Given the description of an element on the screen output the (x, y) to click on. 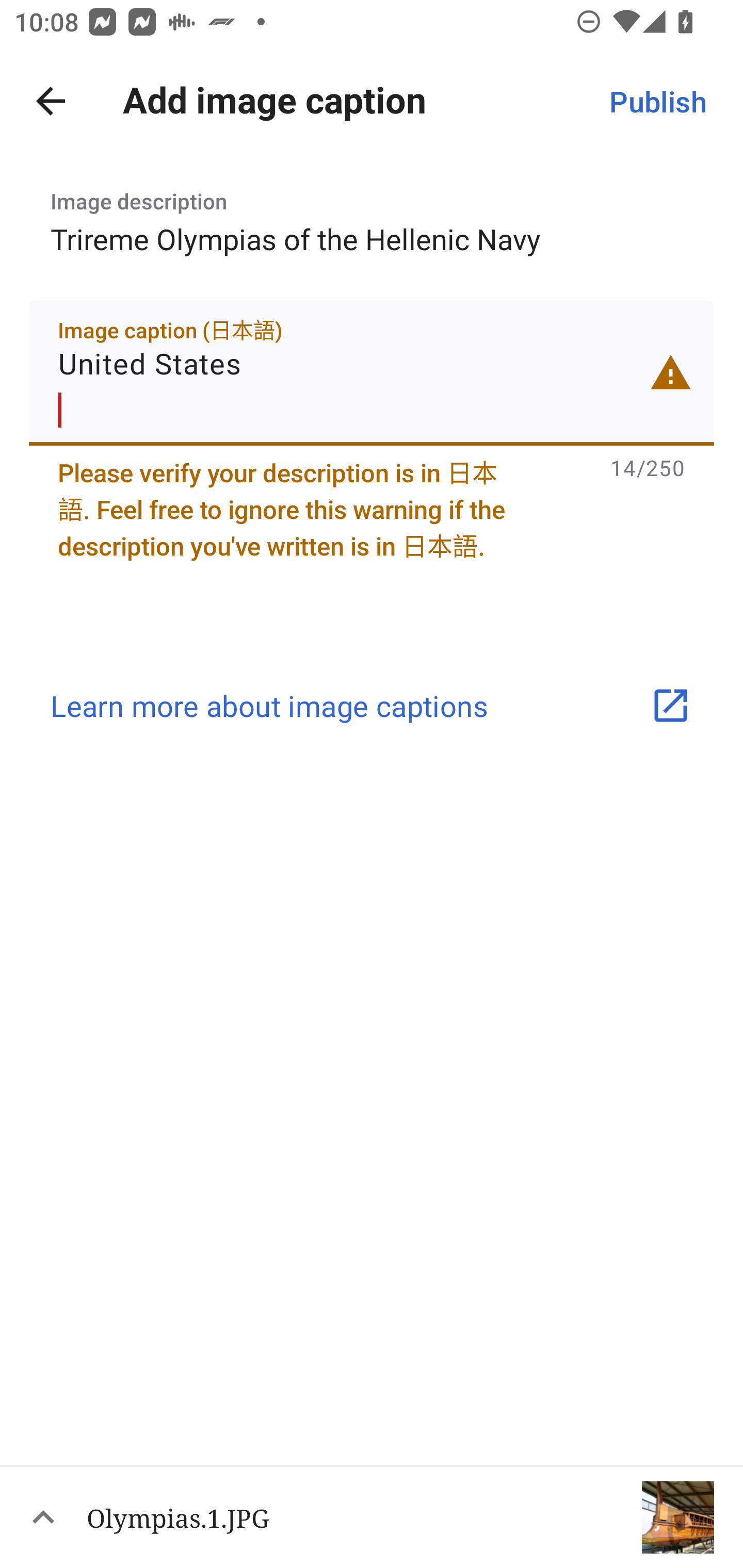
Cancel (50, 101)
Publish (657, 101)
United States
 (371, 372)
Learn more about image captions (371, 705)
Olympias.1.JPG (371, 1516)
